Given the description of an element on the screen output the (x, y) to click on. 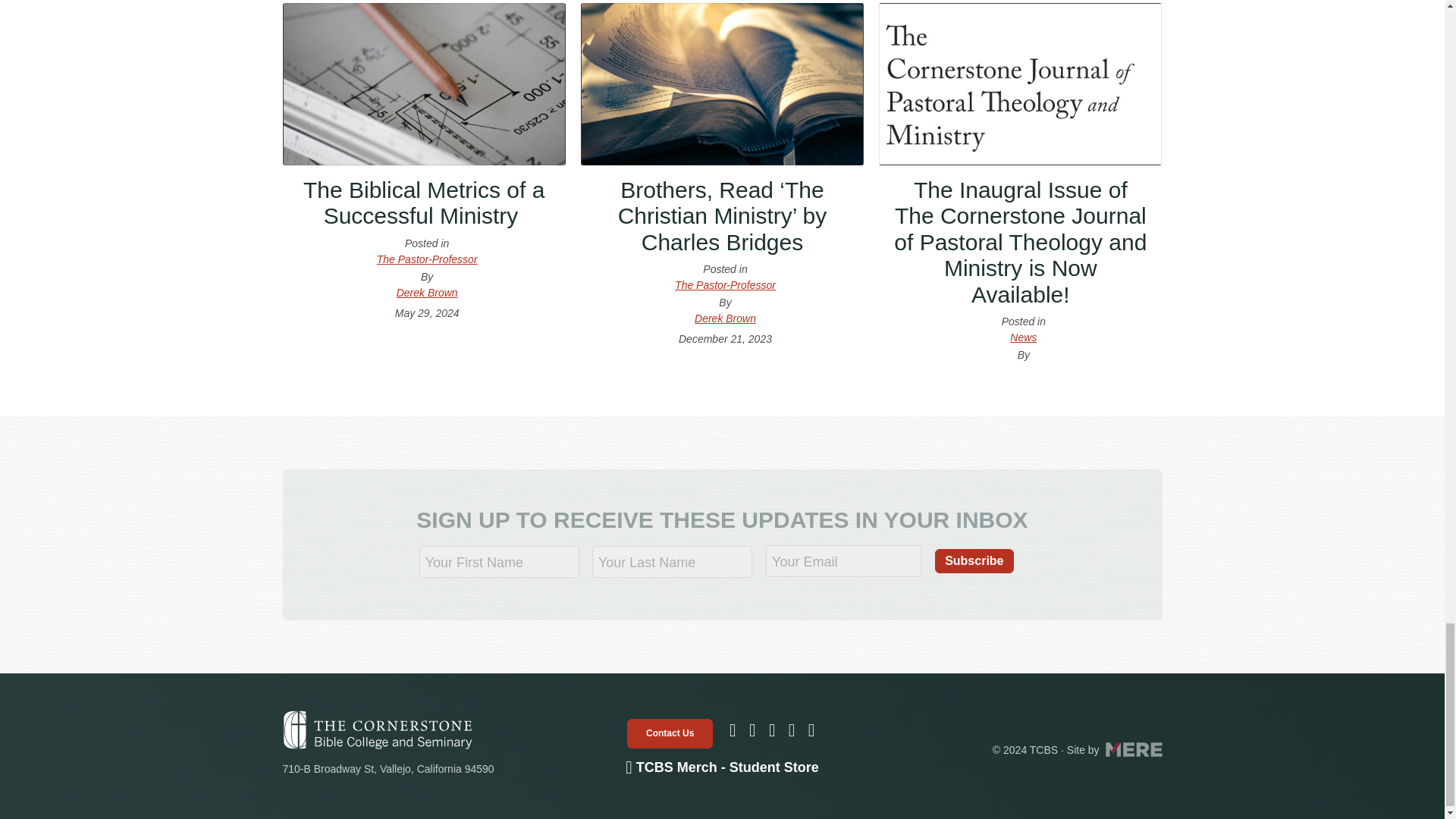
Subscribe (973, 560)
TCBS logo (376, 730)
